Given the description of an element on the screen output the (x, y) to click on. 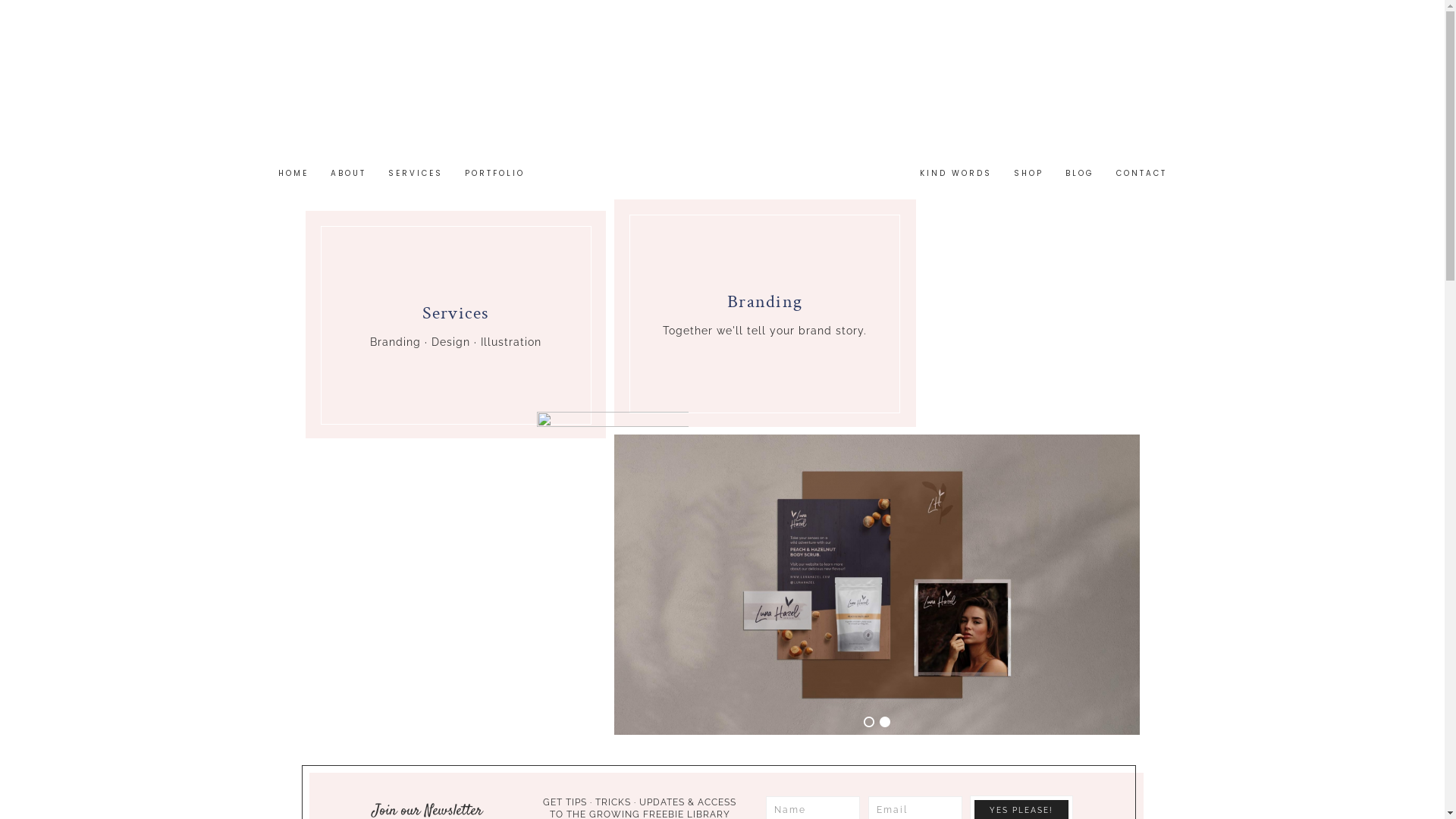
PORTFOLIO Element type: text (494, 176)
BLOG Element type: text (1079, 176)
CONTACT Element type: text (1141, 176)
SHOP Element type: text (1028, 176)
SERVICES Element type: text (415, 176)
KIND WORDS Element type: text (955, 176)
ABOUT Element type: text (348, 176)
HOME Element type: text (293, 176)
